Given the description of an element on the screen output the (x, y) to click on. 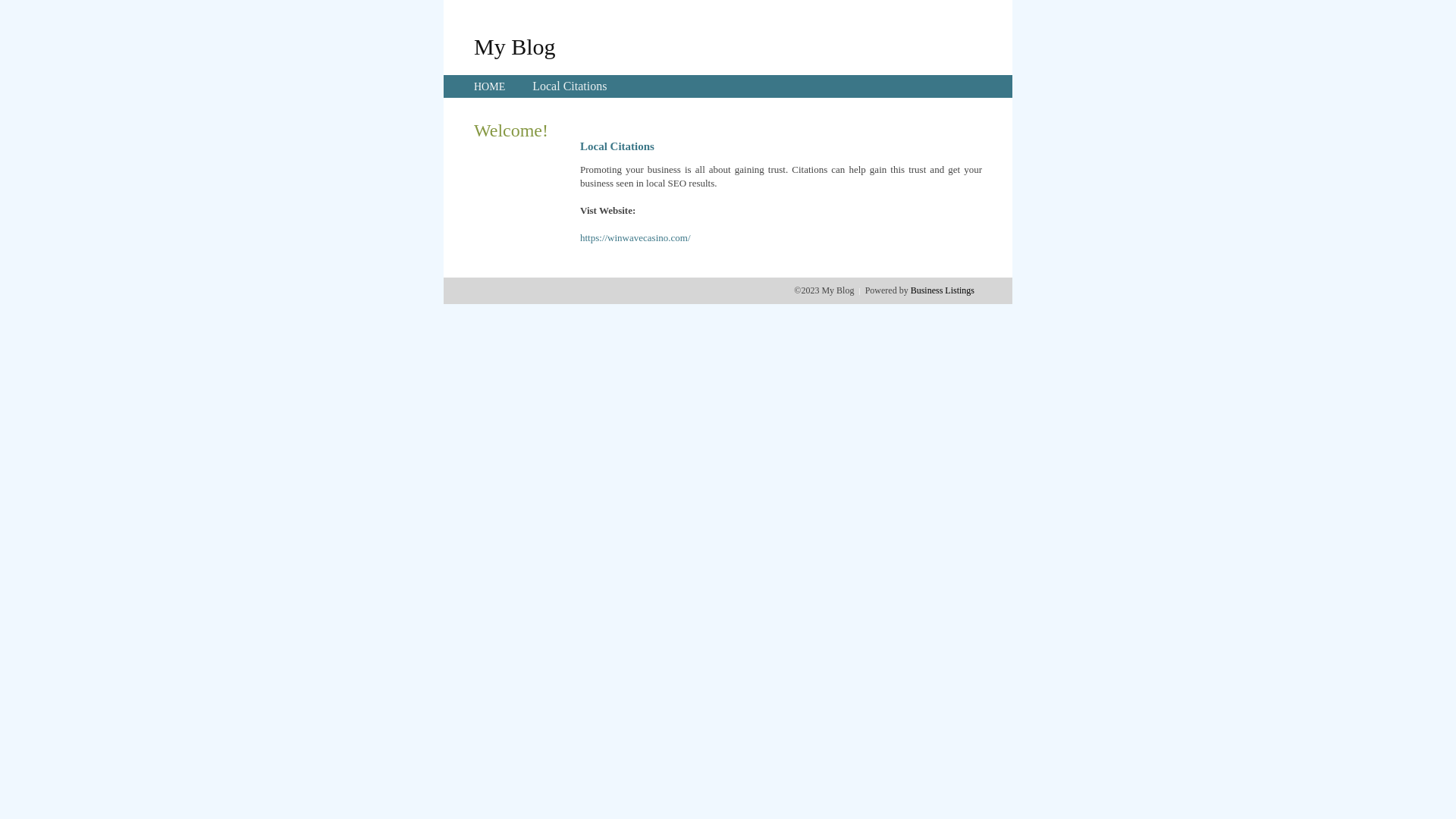
Business Listings Element type: text (942, 290)
HOME Element type: text (489, 86)
Local Citations Element type: text (569, 85)
https://winwavecasino.com/ Element type: text (635, 237)
My Blog Element type: text (514, 46)
